Given the description of an element on the screen output the (x, y) to click on. 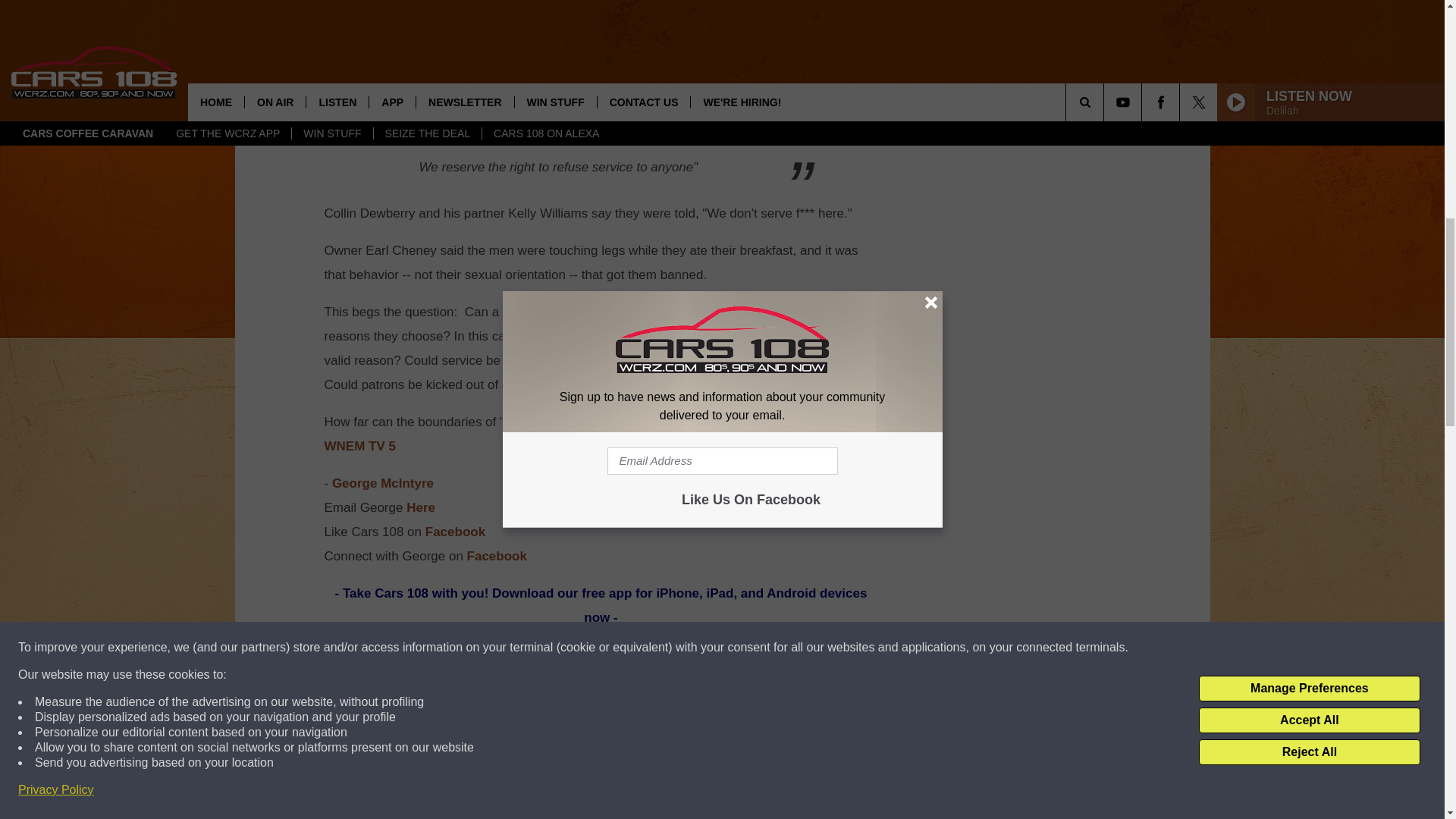
WNEM TV 5  (360, 445)
